Given the description of an element on the screen output the (x, y) to click on. 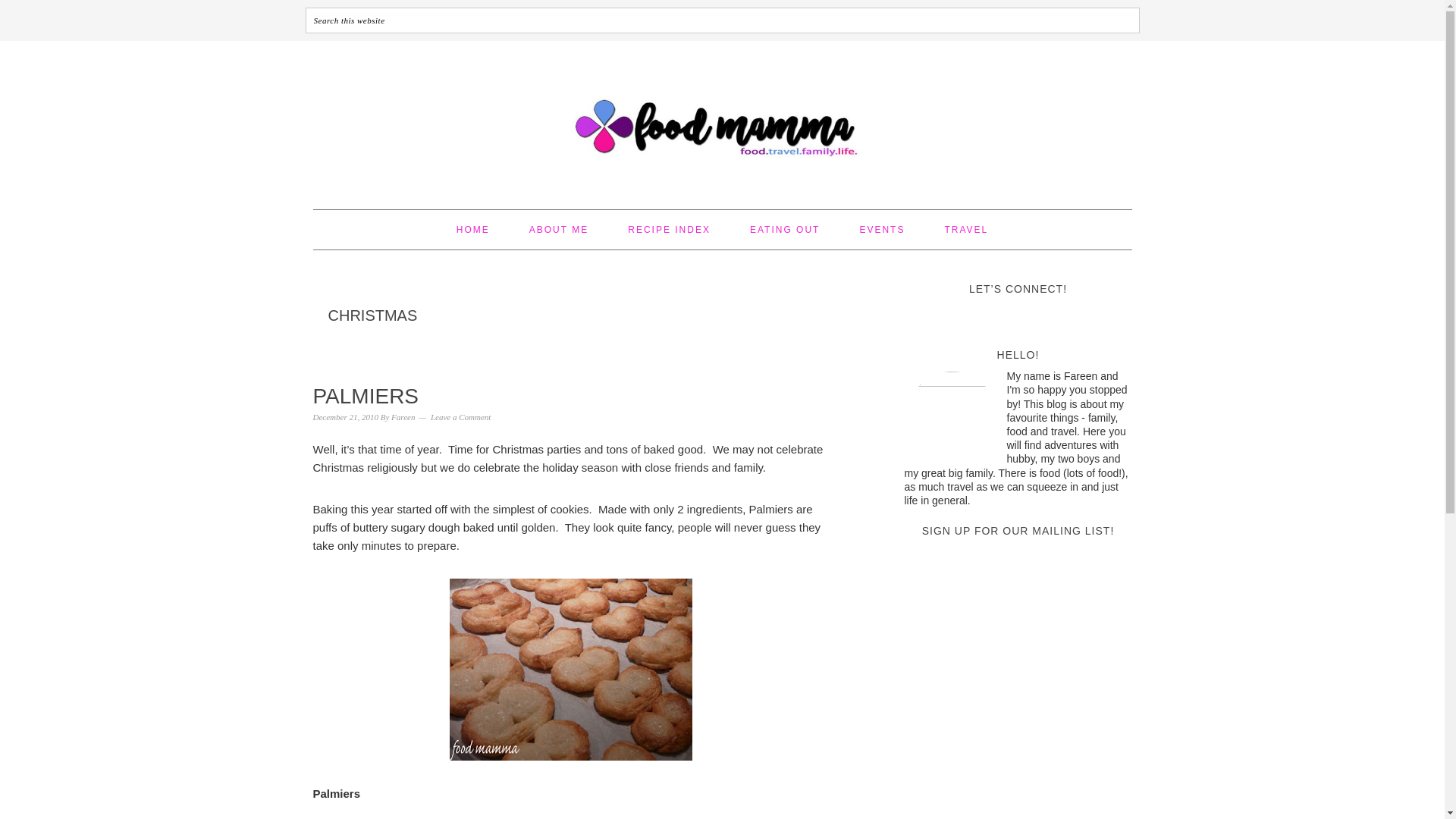
TRAVEL (965, 229)
RECIPE INDEX (668, 229)
EVENTS (881, 229)
ABOUT ME (559, 229)
FOOD MAMMA (722, 118)
Leave a Comment (460, 416)
PALMIERS (366, 395)
EATING OUT (784, 229)
HOME (473, 229)
Fareen (402, 416)
